Given the description of an element on the screen output the (x, y) to click on. 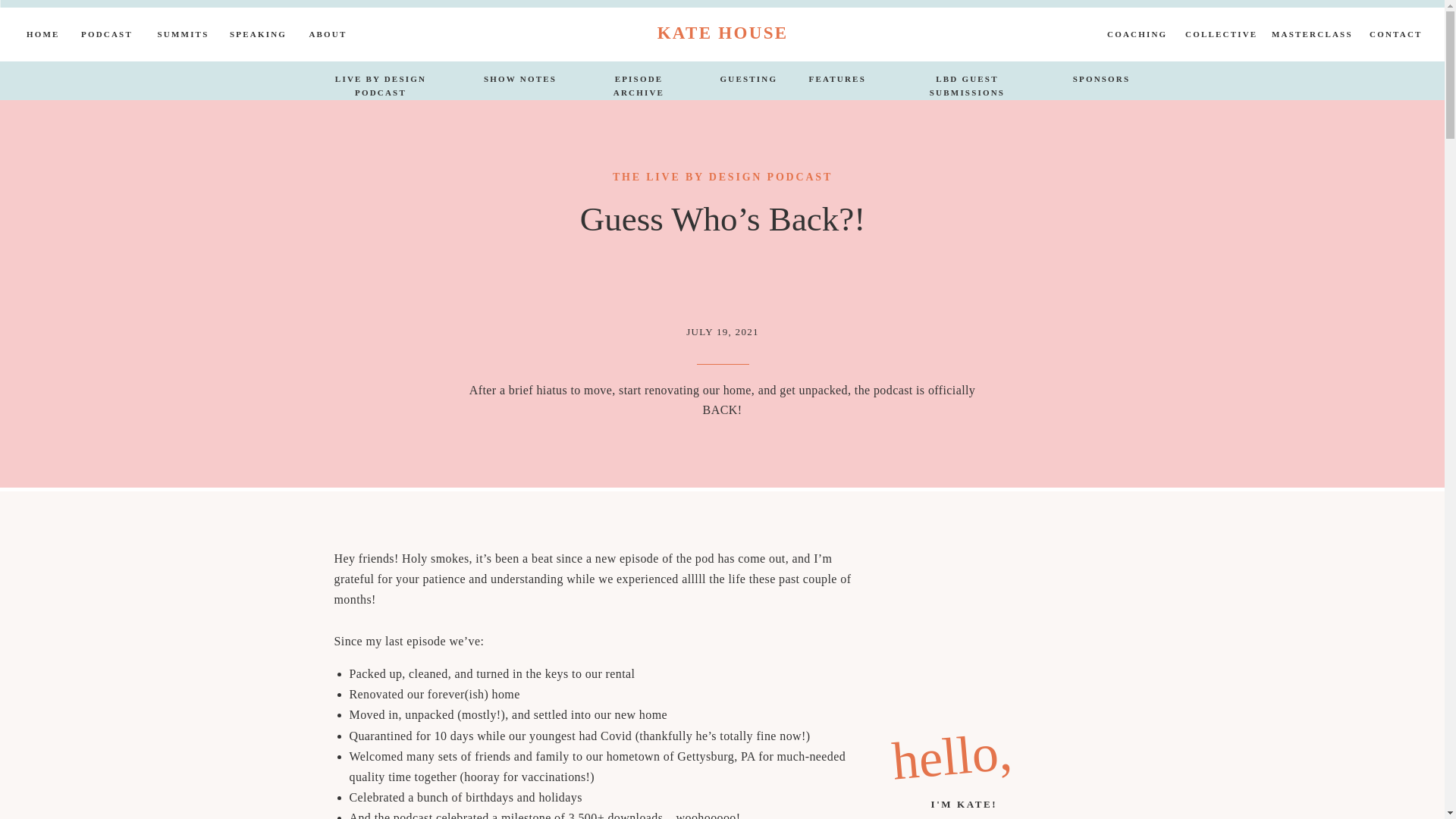
ABOUT (327, 36)
COLLECTIVE (1217, 36)
EPISODE ARCHIVE (638, 81)
SHOW NOTES (519, 81)
THE LIVE BY DESIGN PODCAST (722, 176)
LIVE BY DESIGN PODCAST (381, 81)
FEATURES (836, 81)
COACHING (1136, 36)
GUESTING (748, 81)
PODCAST (106, 36)
HOME (41, 36)
KATE HOUSE (722, 31)
SPEAKING (256, 36)
SUMMITS (182, 36)
MASTERCLASS (1310, 36)
